Given the description of an element on the screen output the (x, y) to click on. 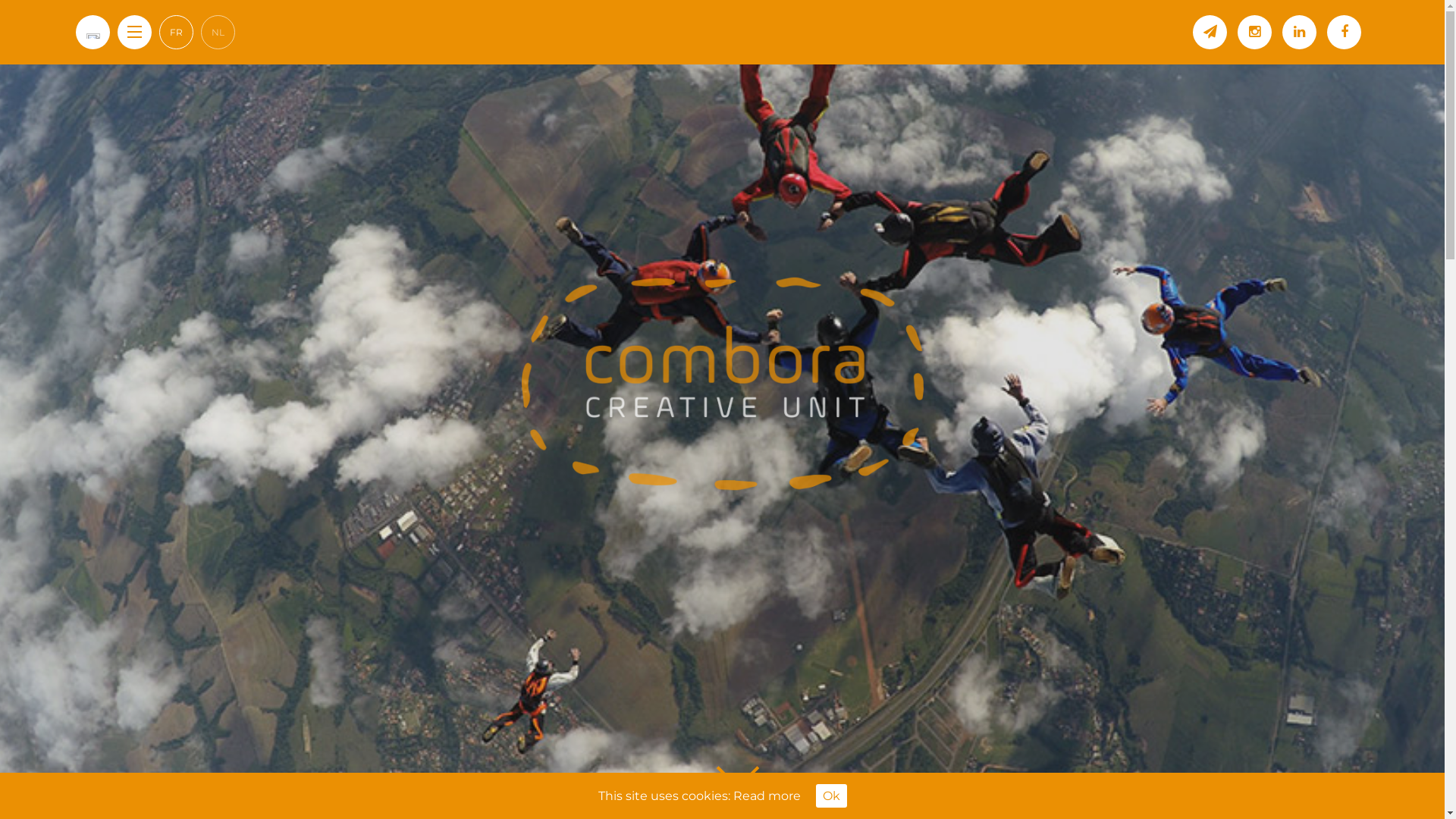
Ok Element type: text (831, 795)
Read more Element type: text (766, 795)
FR Element type: text (176, 32)
NL Element type: text (217, 32)
Combora Element type: hover (722, 383)
